Given the description of an element on the screen output the (x, y) to click on. 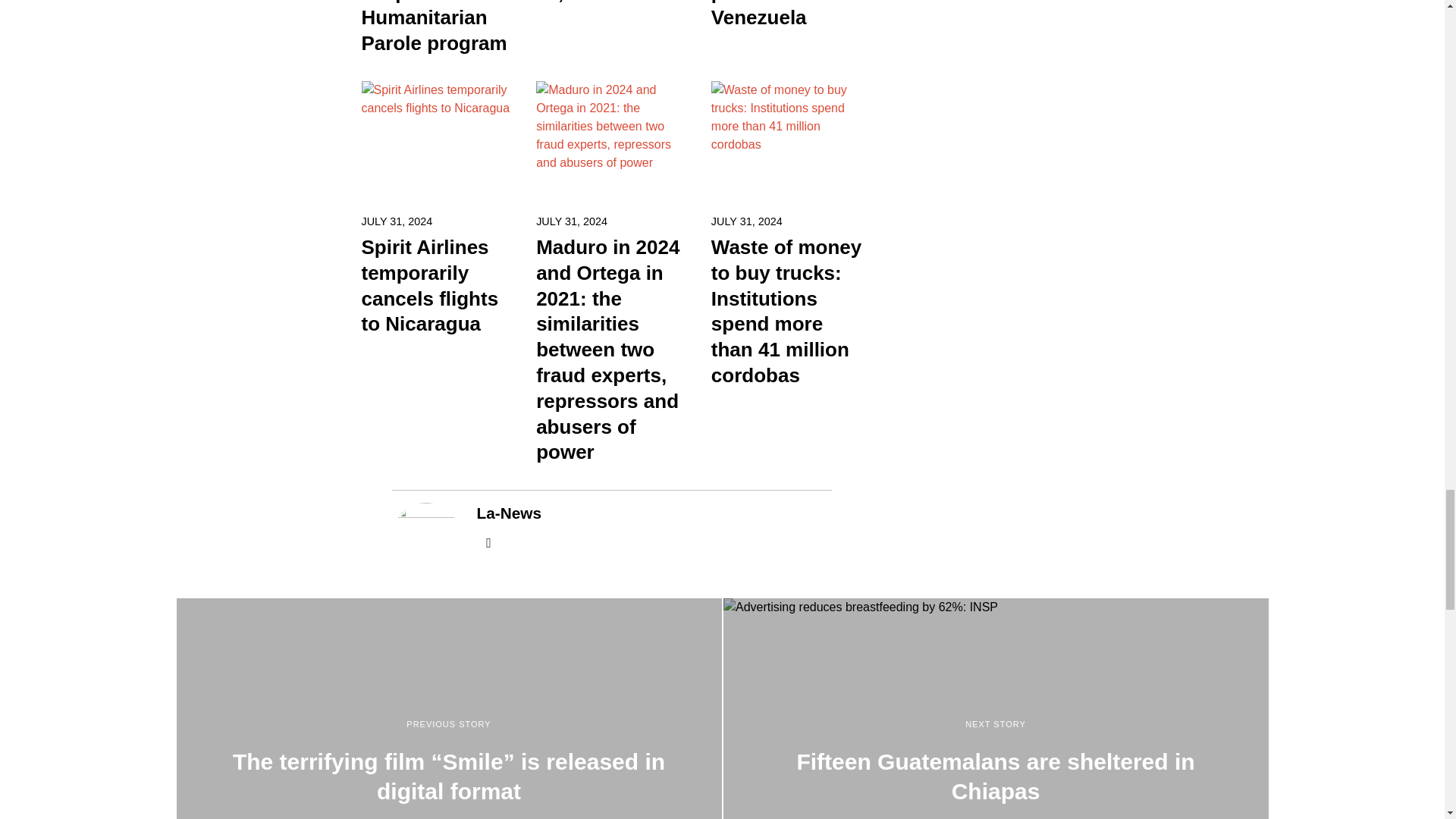
31 Jul, 2024 16:08:11 (747, 221)
31 Jul, 2024 22:01:18 (396, 221)
31 Jul, 2024 20:39:14 (571, 221)
Fifteen Guatemalans are sheltered in Chiapas (995, 708)
